Given the description of an element on the screen output the (x, y) to click on. 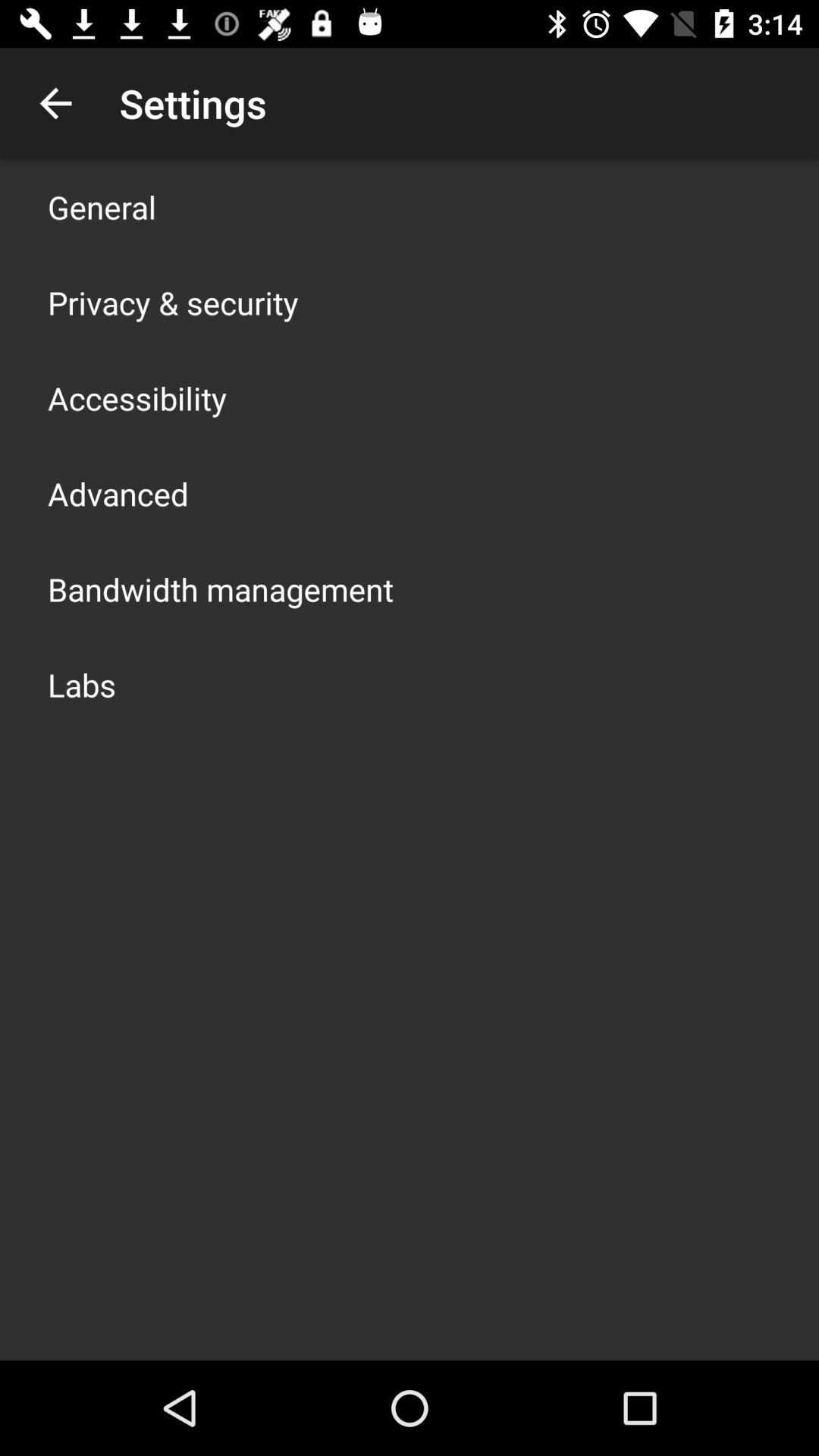
launch icon above the bandwidth management icon (117, 493)
